Given the description of an element on the screen output the (x, y) to click on. 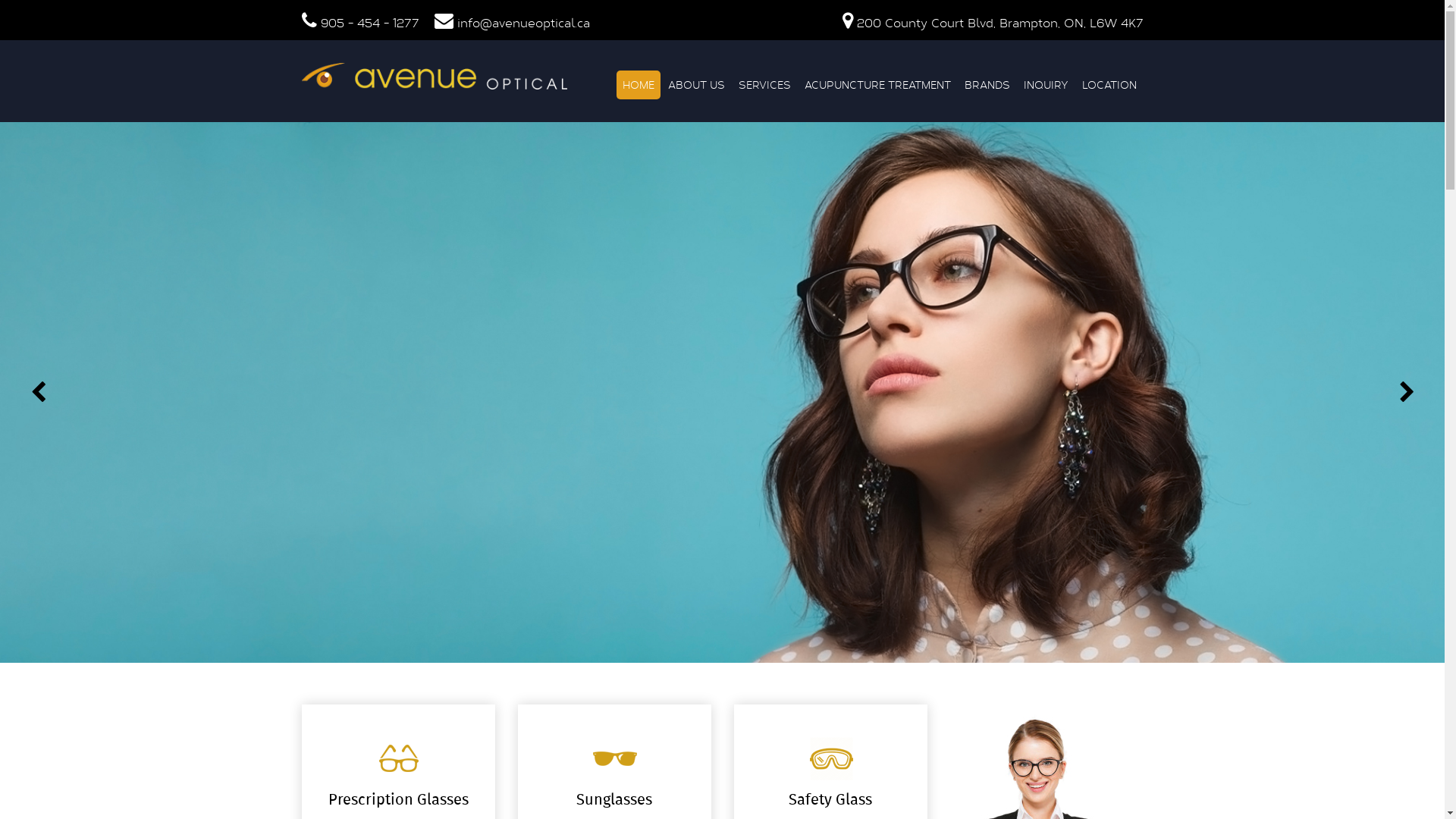
ABOUT US Element type: text (695, 84)
BRANDS Element type: text (987, 84)
LOCATION Element type: text (1108, 84)
info@avenueoptical.ca Element type: text (522, 22)
ACUPUNCTURE TREATMENT Element type: text (876, 84)
INQUIRY Element type: text (1045, 84)
SERVICES Element type: text (764, 84)
HOME Element type: text (637, 84)
